Given the description of an element on the screen output the (x, y) to click on. 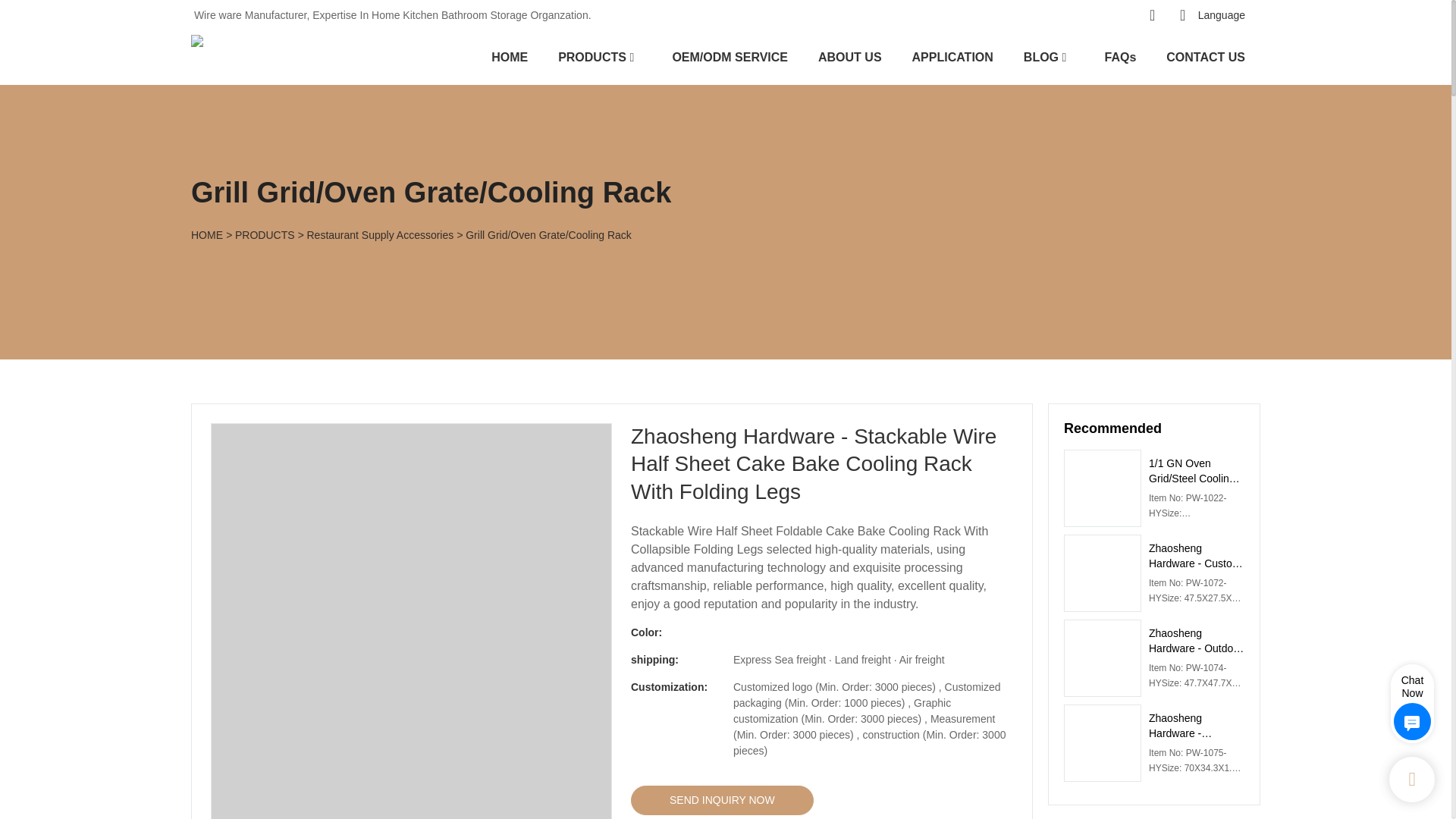
HOME (509, 56)
facebook (1083, 15)
youtube (1053, 15)
linkedin (1114, 15)
PRODUCTS (591, 56)
